Given the description of an element on the screen output the (x, y) to click on. 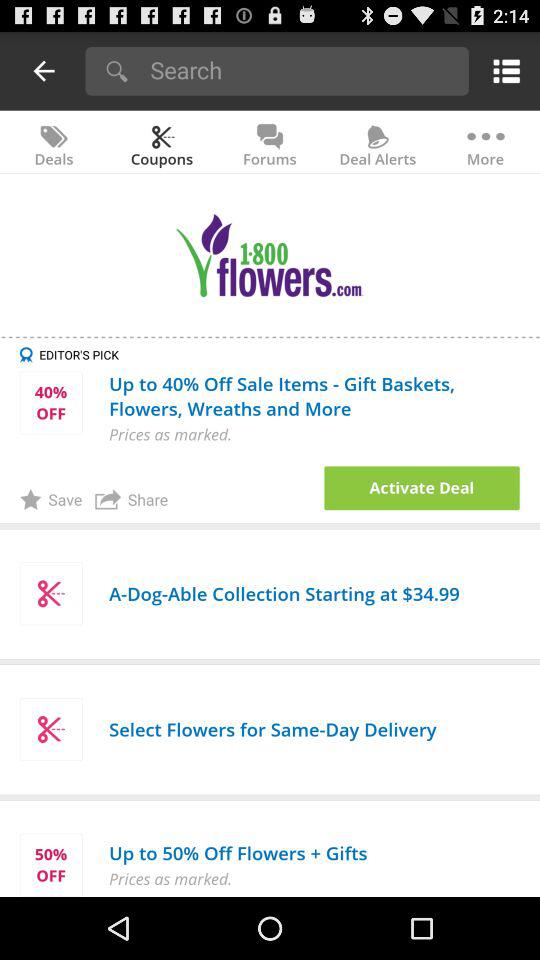
turn on the app to the right of the save (131, 499)
